Given the description of an element on the screen output the (x, y) to click on. 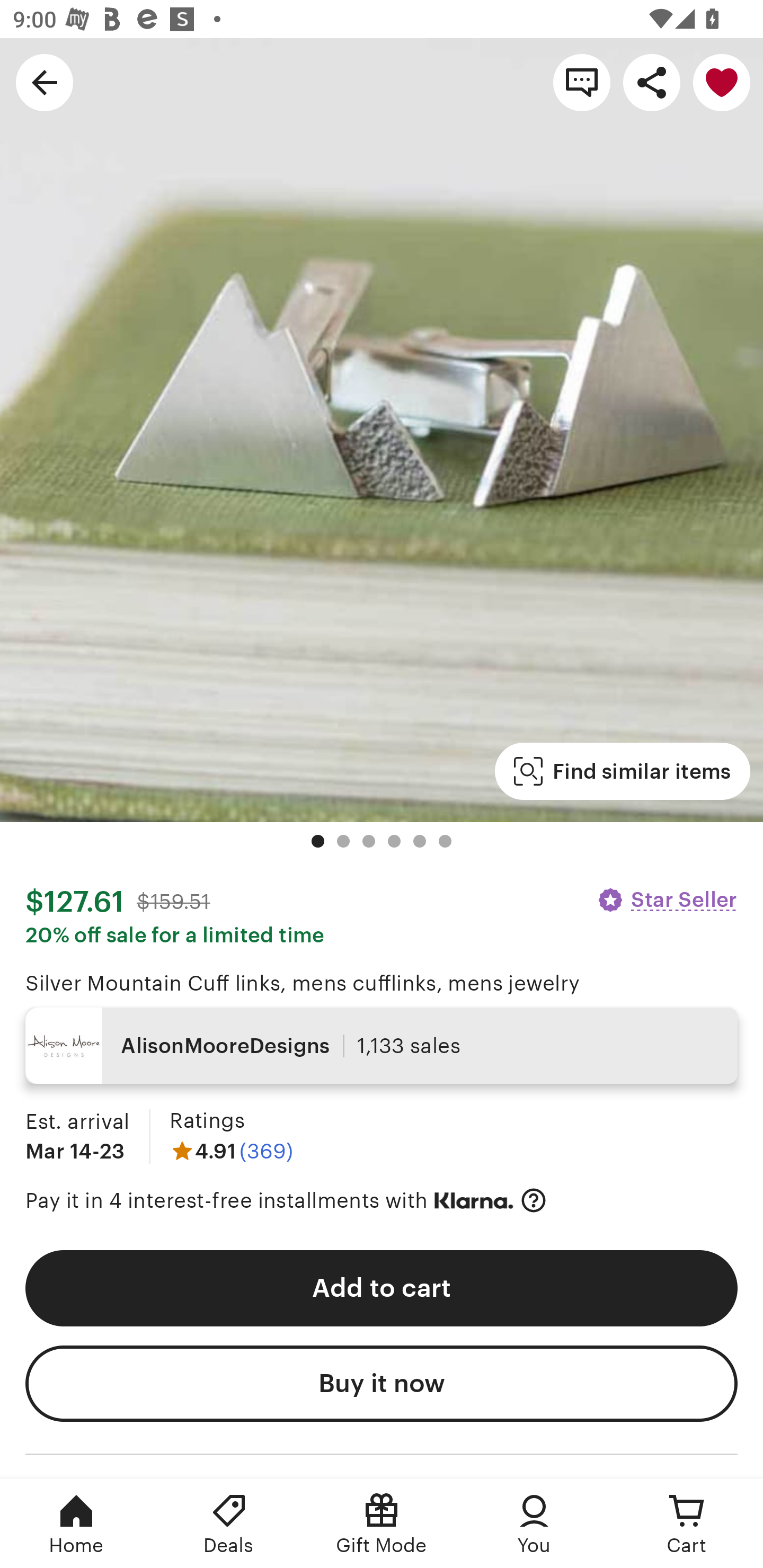
Navigate up (44, 81)
Contact shop (581, 81)
Share (651, 81)
Find similar items (622, 771)
Star Seller (666, 899)
AlisonMooreDesigns 1,133 sales (381, 1045)
Ratings (206, 1120)
4.91 (369) (231, 1150)
Add to cart (381, 1287)
Buy it now (381, 1383)
Deals (228, 1523)
Gift Mode (381, 1523)
You (533, 1523)
Cart (686, 1523)
